Given the description of an element on the screen output the (x, y) to click on. 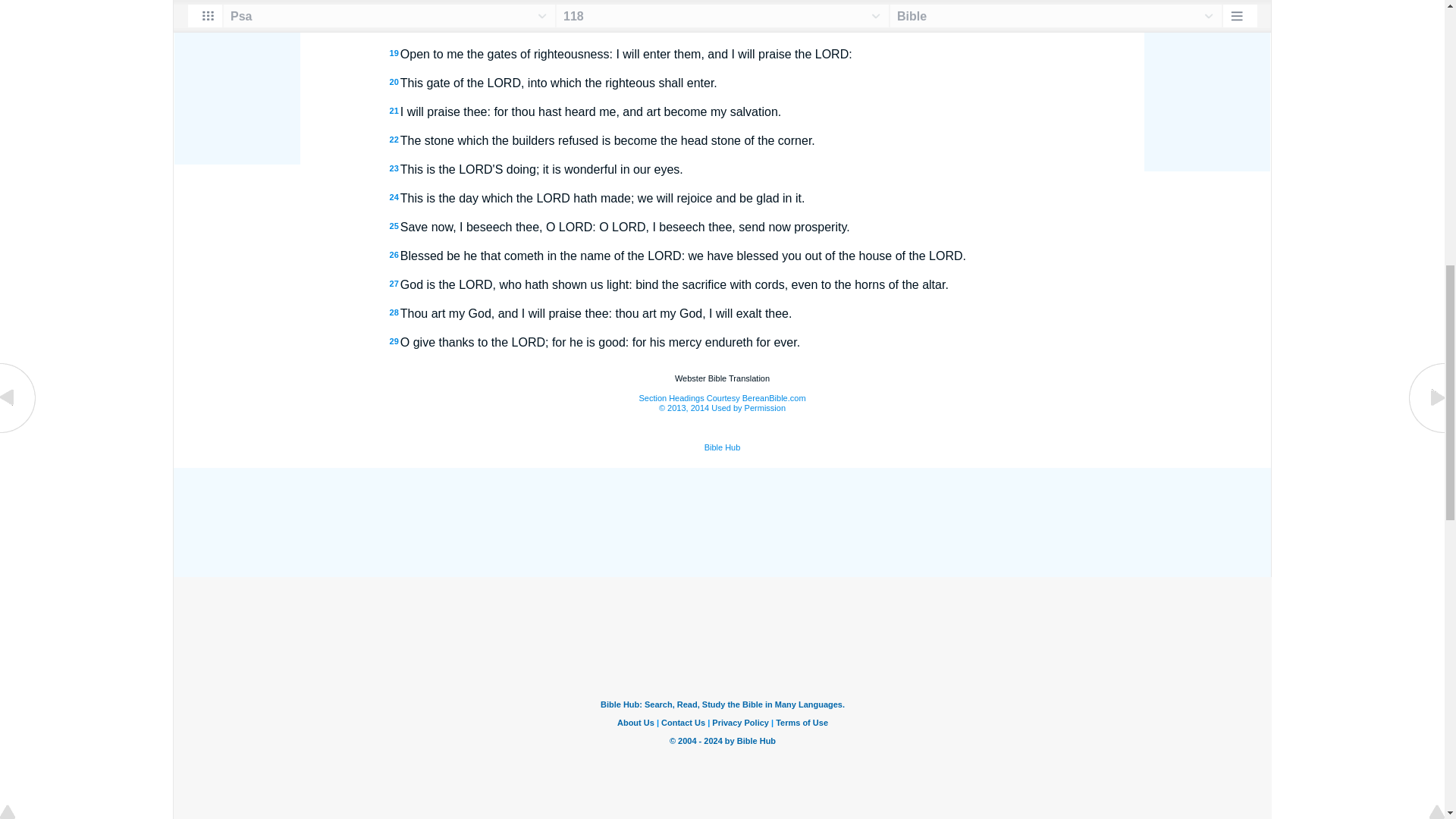
20 (394, 81)
28 (394, 311)
22 (394, 139)
Top of Page (18, 1)
26 (394, 254)
18 (394, 23)
Bible Hub (722, 447)
19 (394, 52)
29 (394, 340)
23 (394, 167)
24 (394, 196)
21 (394, 110)
25 (394, 225)
27 (394, 283)
